Given the description of an element on the screen output the (x, y) to click on. 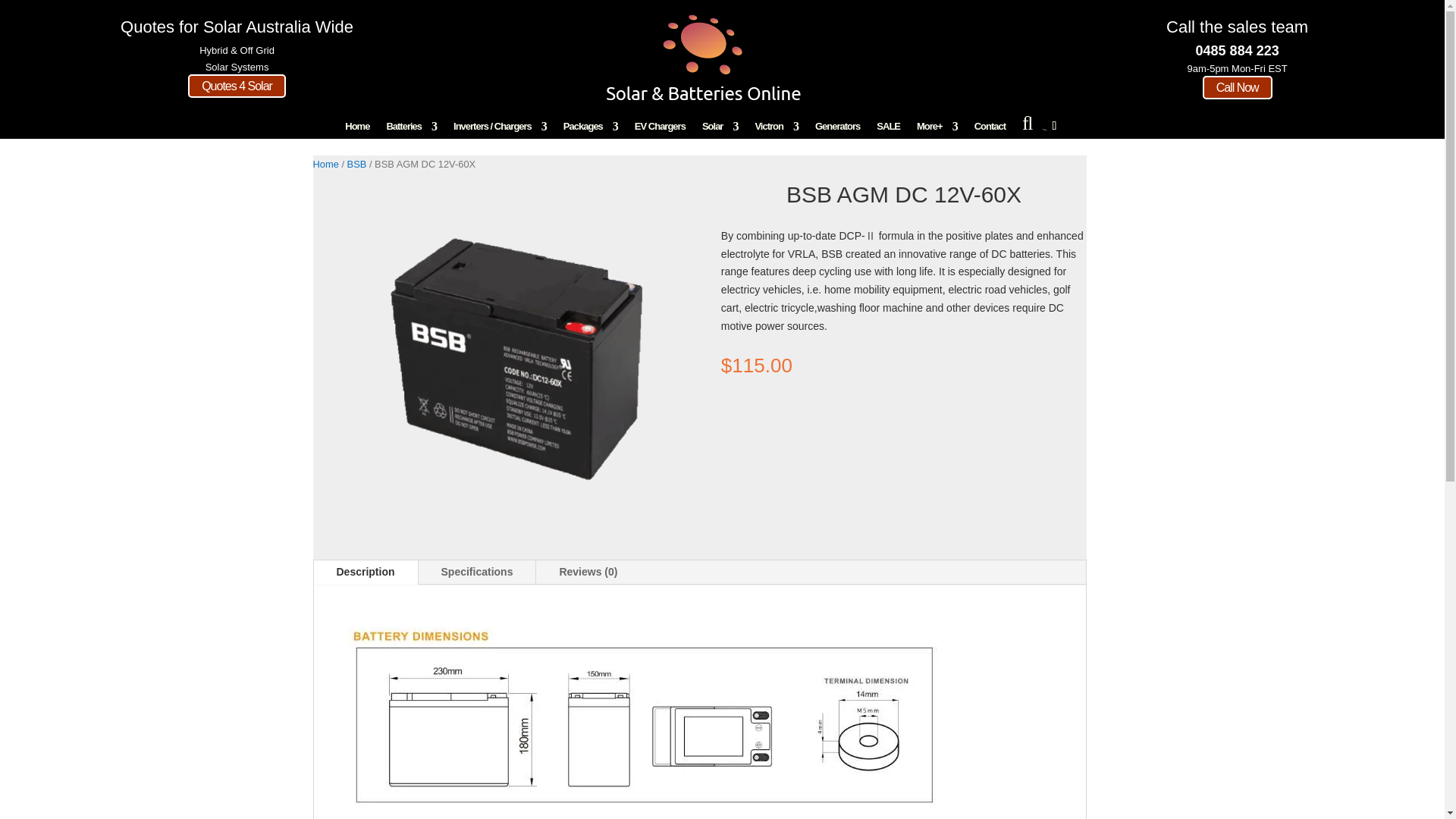
Quotes 4 Solar (236, 85)
Batteries (410, 129)
DC 12V-60X Image v1.1 (514, 354)
Home (357, 129)
Call Now (1237, 87)
